Given the description of an element on the screen output the (x, y) to click on. 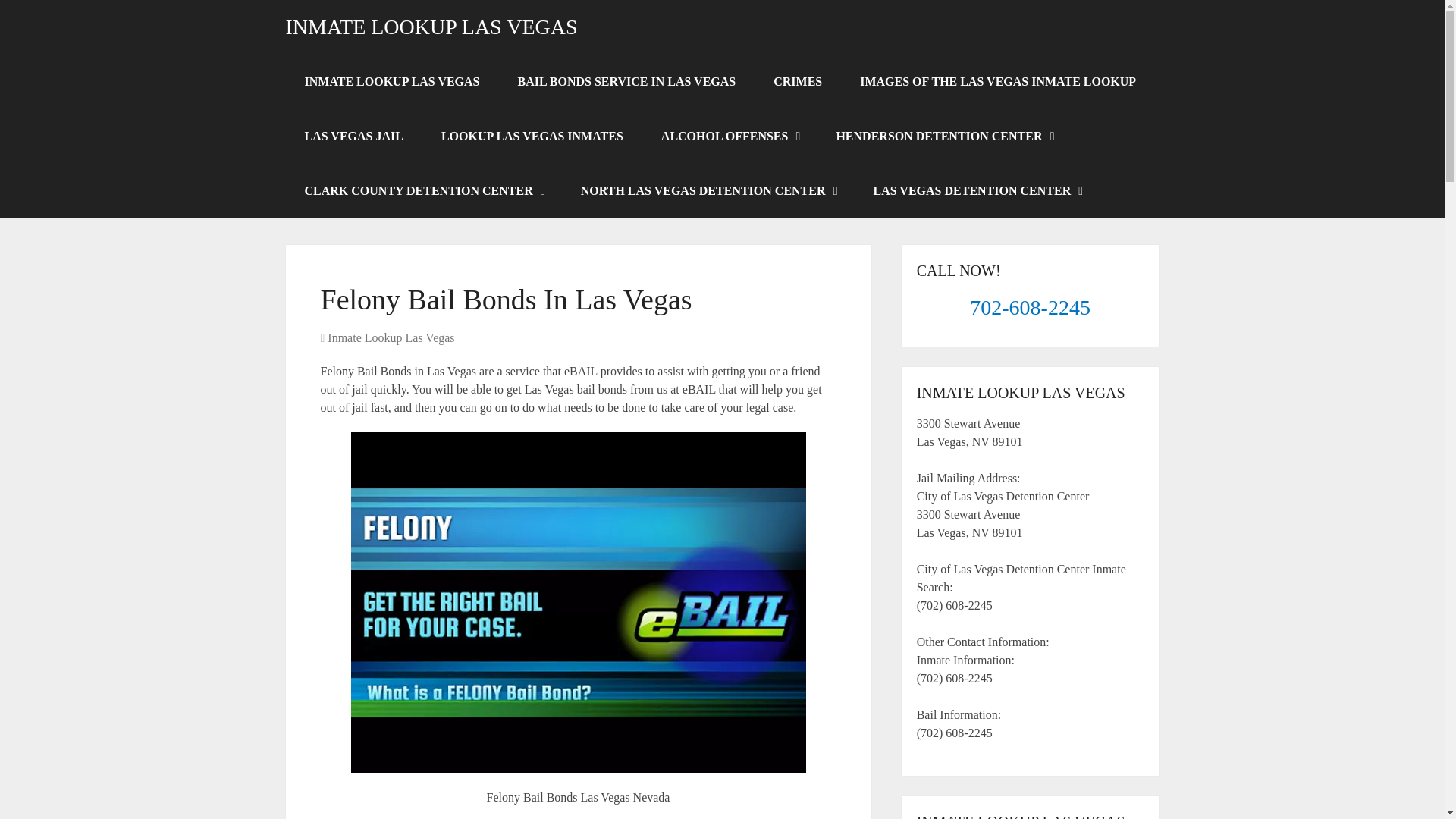
CRIMES (797, 81)
BAIL BONDS SERVICE IN LAS VEGAS (627, 81)
LAS VEGAS DETENTION CENTER (977, 190)
ALCOHOL OFFENSES (729, 135)
LAS VEGAS JAIL (353, 135)
HENDERSON DETENTION CENTER (943, 135)
LOOKUP LAS VEGAS INMATES (532, 135)
Posts by Inmate Lookup Las Vegas (390, 337)
CLARK COUNTY DETENTION CENTER (422, 190)
